Given the description of an element on the screen output the (x, y) to click on. 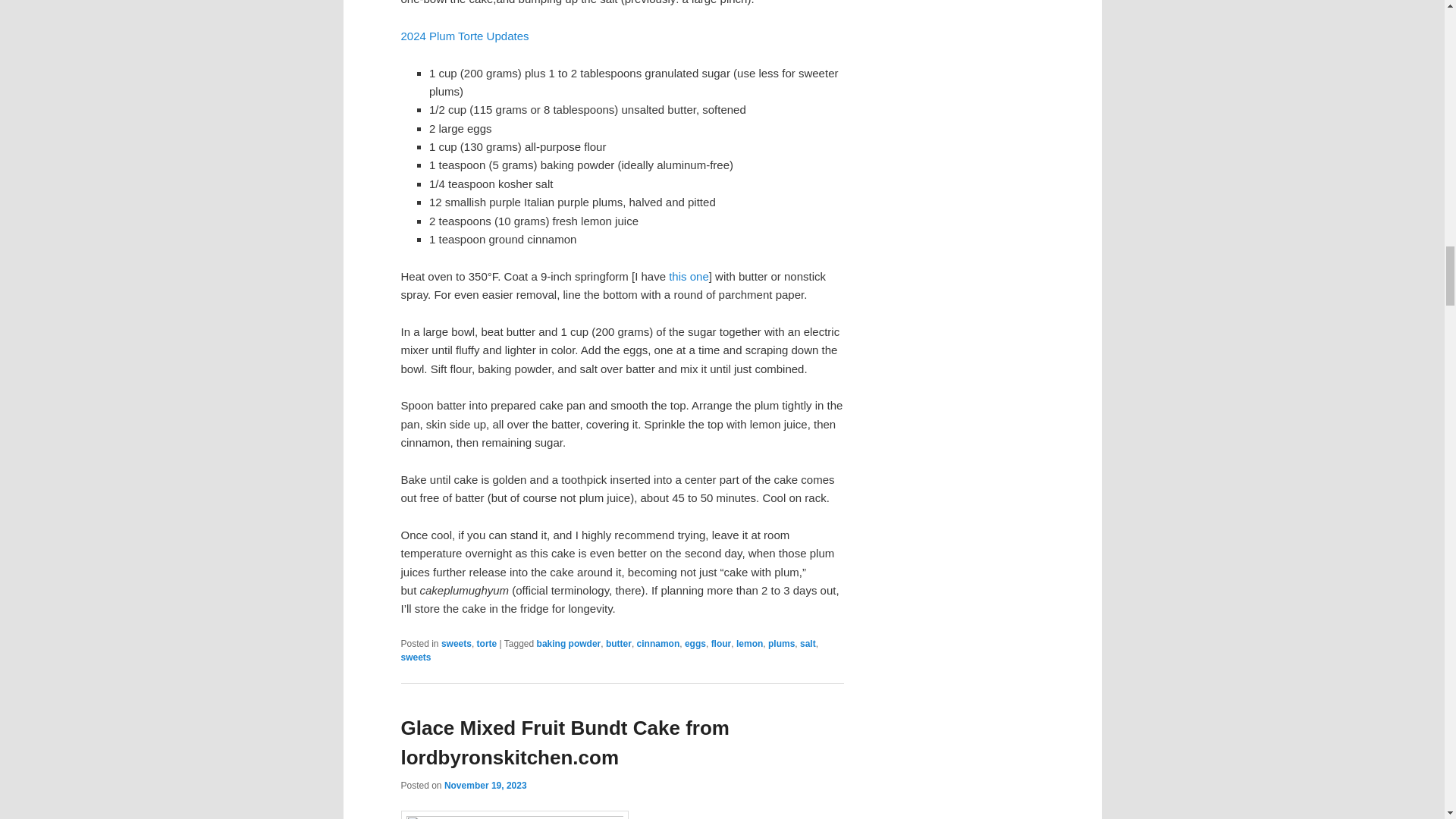
10:44 am (485, 785)
